Given the description of an element on the screen output the (x, y) to click on. 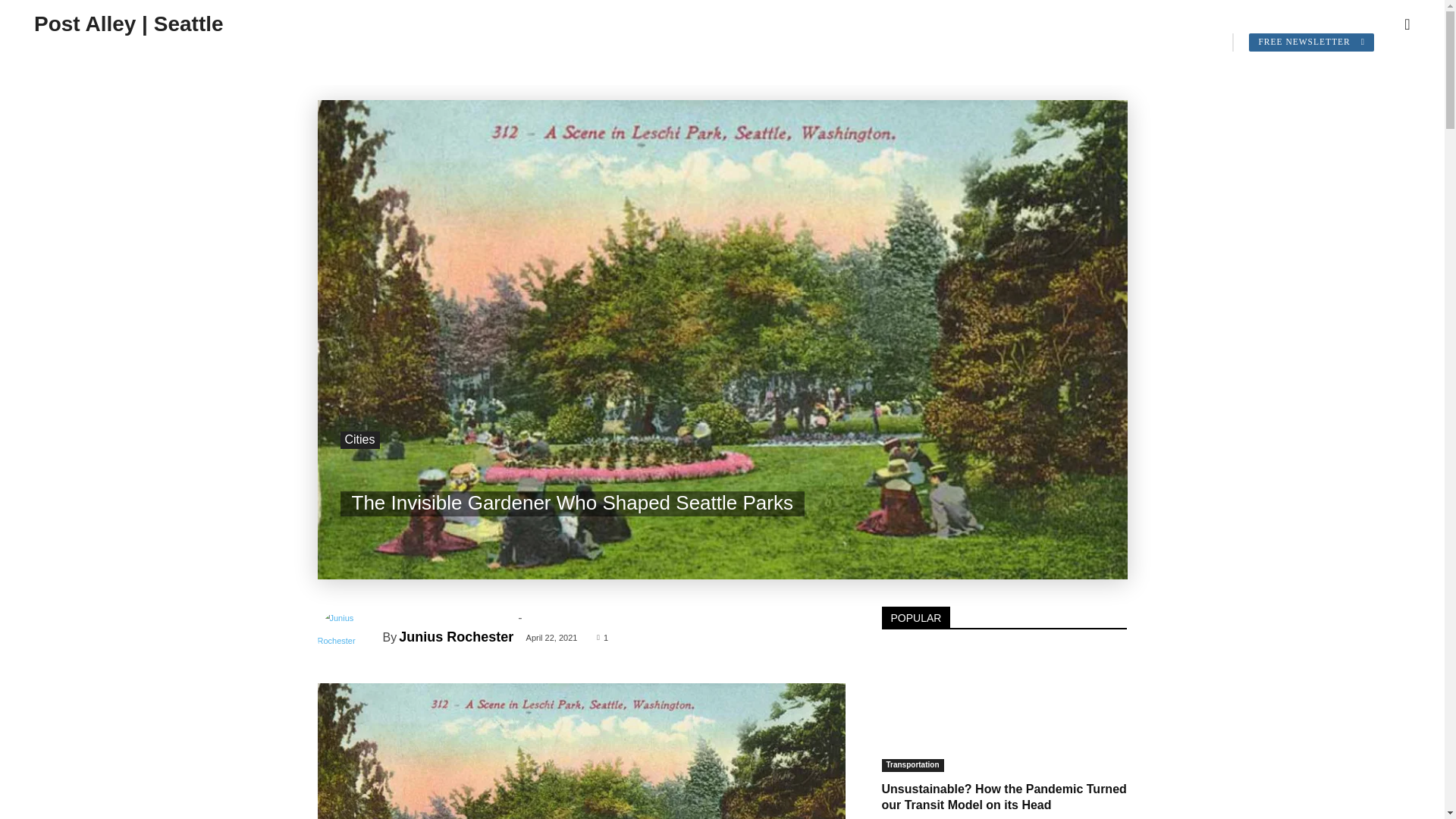
FREE NEWSLETTER (1311, 42)
Junius Rochester (349, 636)
